Given the description of an element on the screen output the (x, y) to click on. 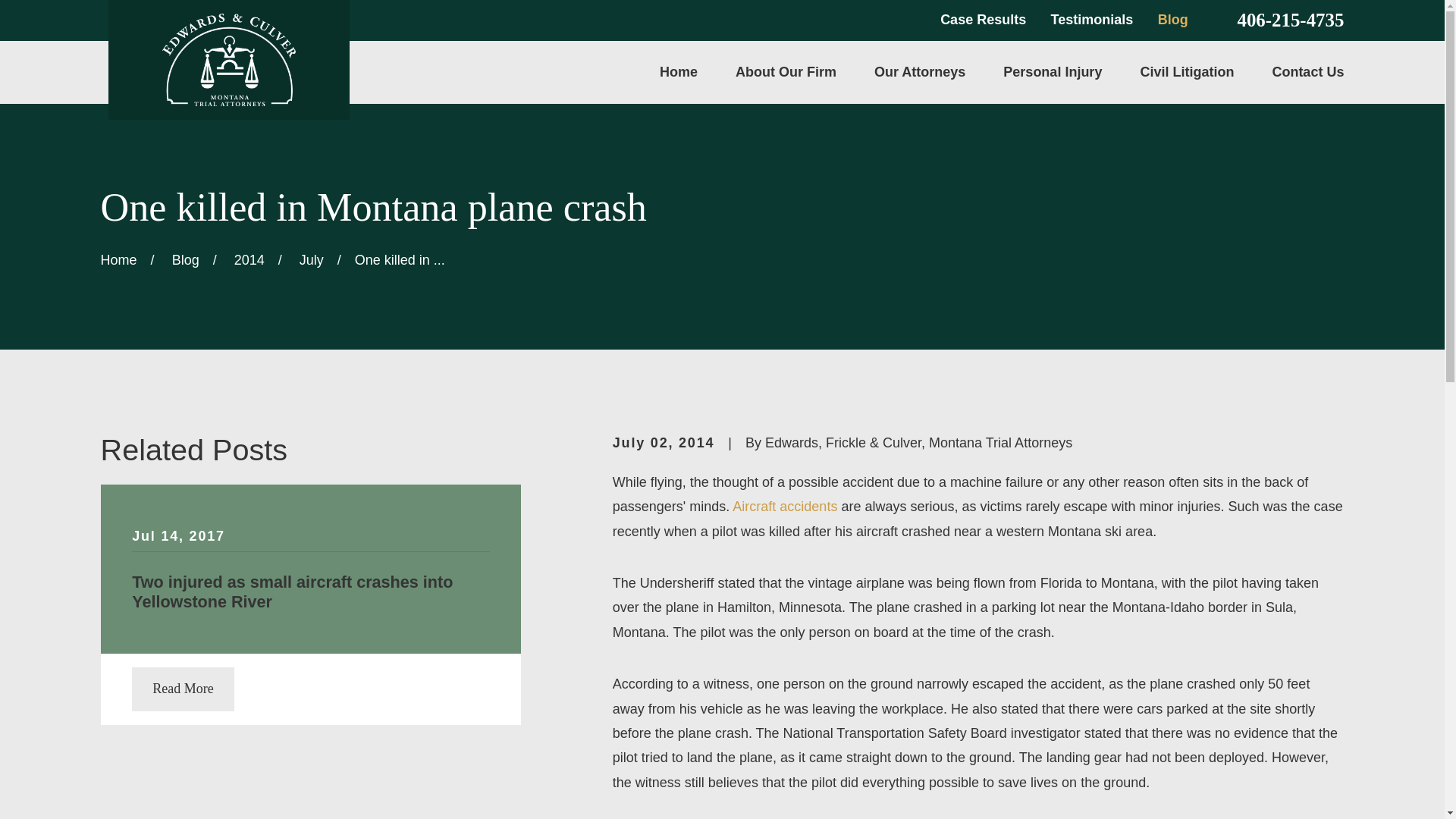
Personal Injury (1052, 72)
About Our Firm (785, 72)
Testimonials (1092, 19)
Our Attorneys (920, 72)
Home (228, 59)
406-215-4735 (1289, 20)
Case Results (983, 19)
Go Home (118, 259)
Blog (1172, 19)
Home (678, 72)
